Given the description of an element on the screen output the (x, y) to click on. 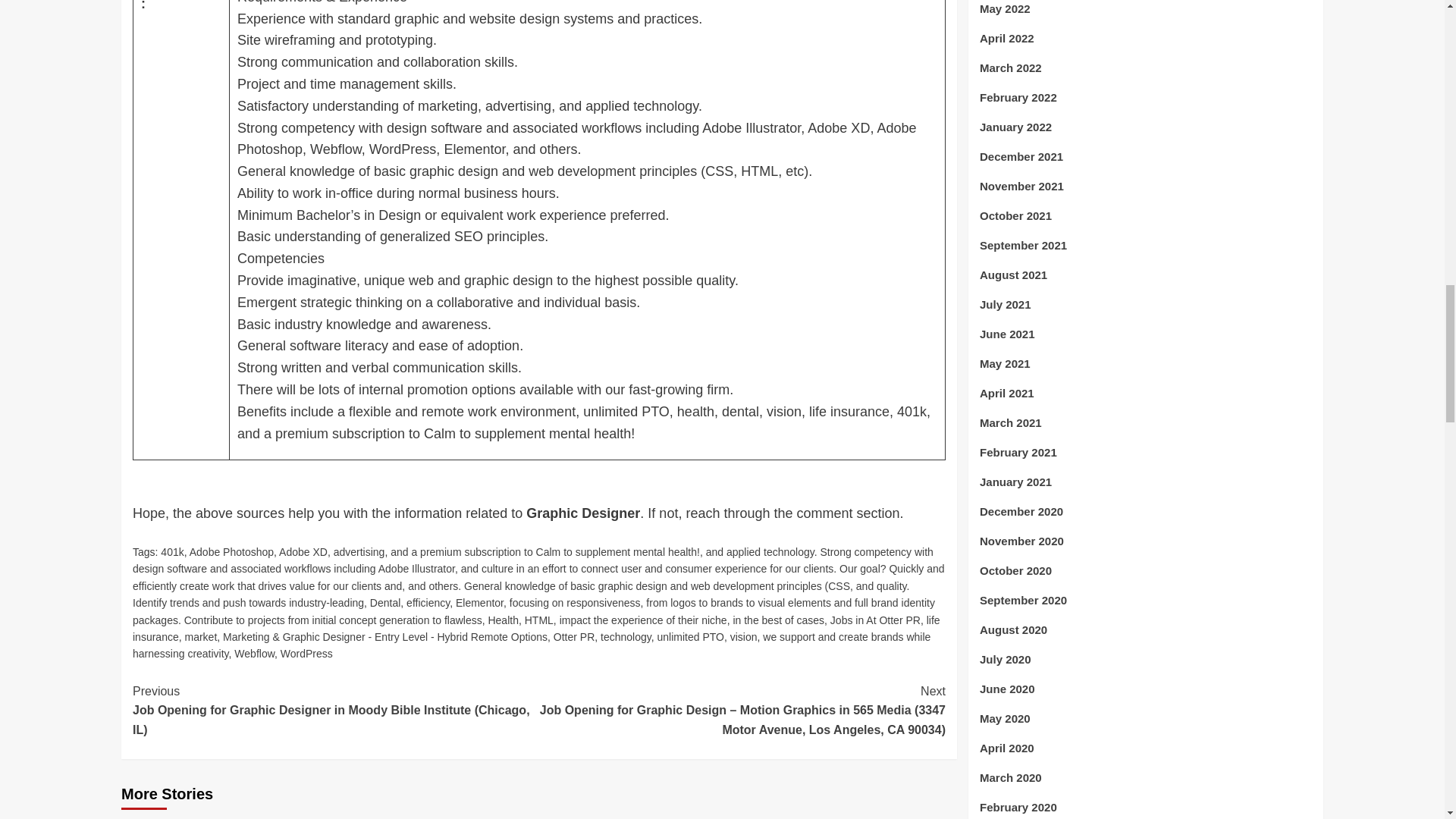
Health (502, 620)
Adobe XD (303, 551)
efficiency (427, 603)
Dental (384, 603)
401k (171, 551)
Adobe Photoshop (231, 551)
